Given the description of an element on the screen output the (x, y) to click on. 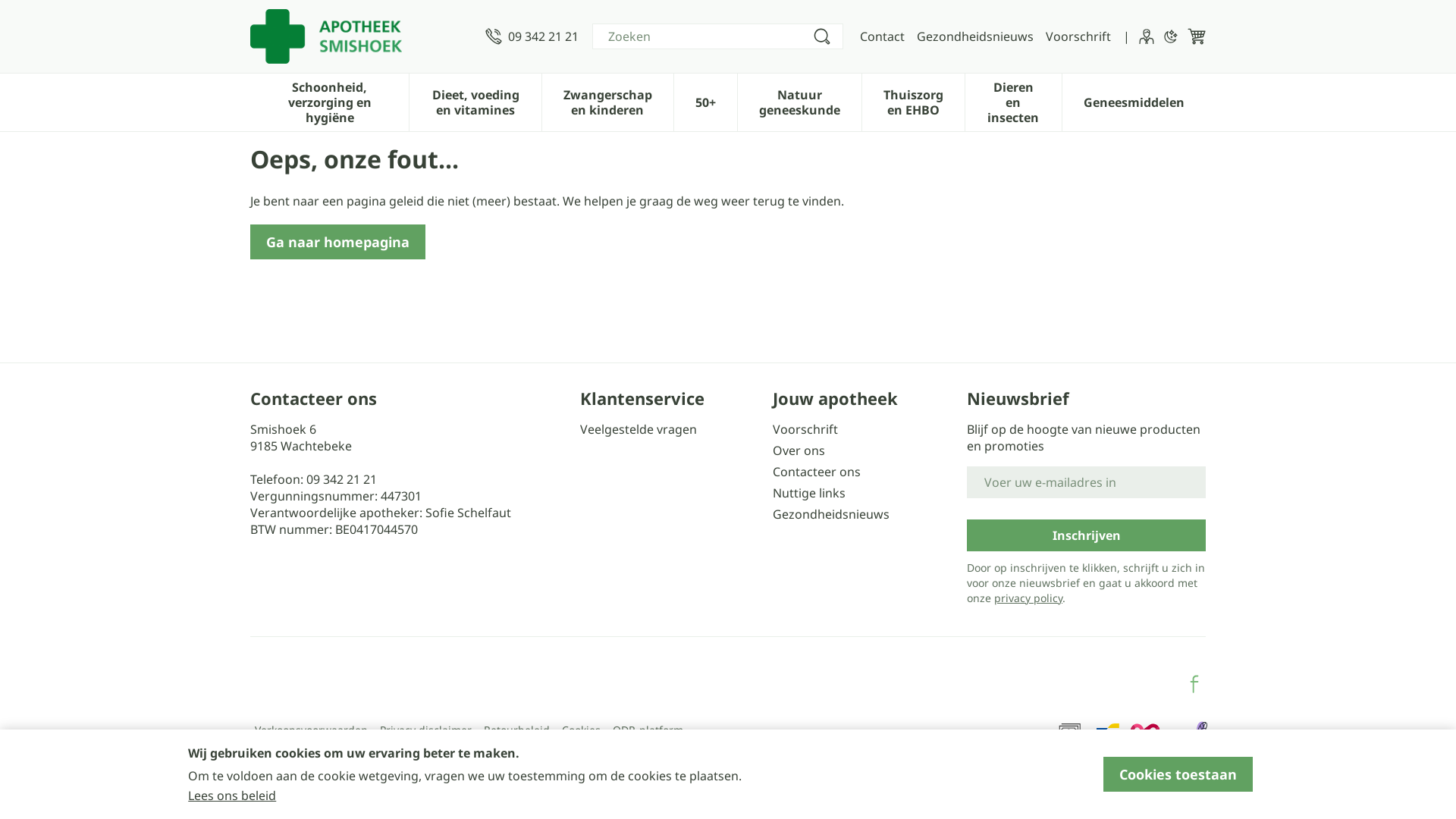
Cookies Element type: text (580, 729)
Veelgestelde vragen Element type: text (670, 428)
Inschrijven Element type: text (1085, 535)
Privacy disclaimer Element type: text (425, 729)
Gezondheidsnieuws Element type: text (863, 513)
Winkelwagen Element type: text (1196, 36)
Zoeken Element type: text (821, 36)
Dieren en insecten Element type: text (1013, 100)
Cookies toestaan Element type: text (1177, 773)
Contacteer ons Element type: text (863, 471)
Apotheek Smishoek Element type: hover (361, 36)
Lees ons beleid Element type: text (232, 795)
Contact Element type: text (881, 36)
Klant menu Element type: text (1146, 35)
Donkere modus Element type: text (1170, 35)
Gezondheidsnieuws Element type: text (974, 36)
Apotheek Smishoek Element type: hover (325, 36)
09 342 21 21 Element type: text (531, 36)
Voorschrift Element type: text (1077, 36)
Retourbeleid Element type: text (516, 729)
Voorschrift Element type: text (863, 428)
Ga naar homepagina Element type: text (337, 241)
Nuttige links Element type: text (863, 492)
Facebook Element type: hover (1194, 683)
Dieet, voeding en vitamines Element type: text (474, 100)
Thuiszorg en EHBO Element type: text (913, 100)
Natuur geneeskunde Element type: text (799, 100)
ODR-platform Element type: text (647, 729)
50+ Element type: text (705, 100)
privacy policy Element type: text (1028, 597)
09 342 21 21 Element type: text (341, 478)
Zwangerschap en kinderen Element type: text (607, 100)
Geneesmiddelen Element type: text (1133, 100)
Over ons Element type: text (863, 450)
Verkoopsvoorwaarden Element type: text (310, 729)
